Given the description of an element on the screen output the (x, y) to click on. 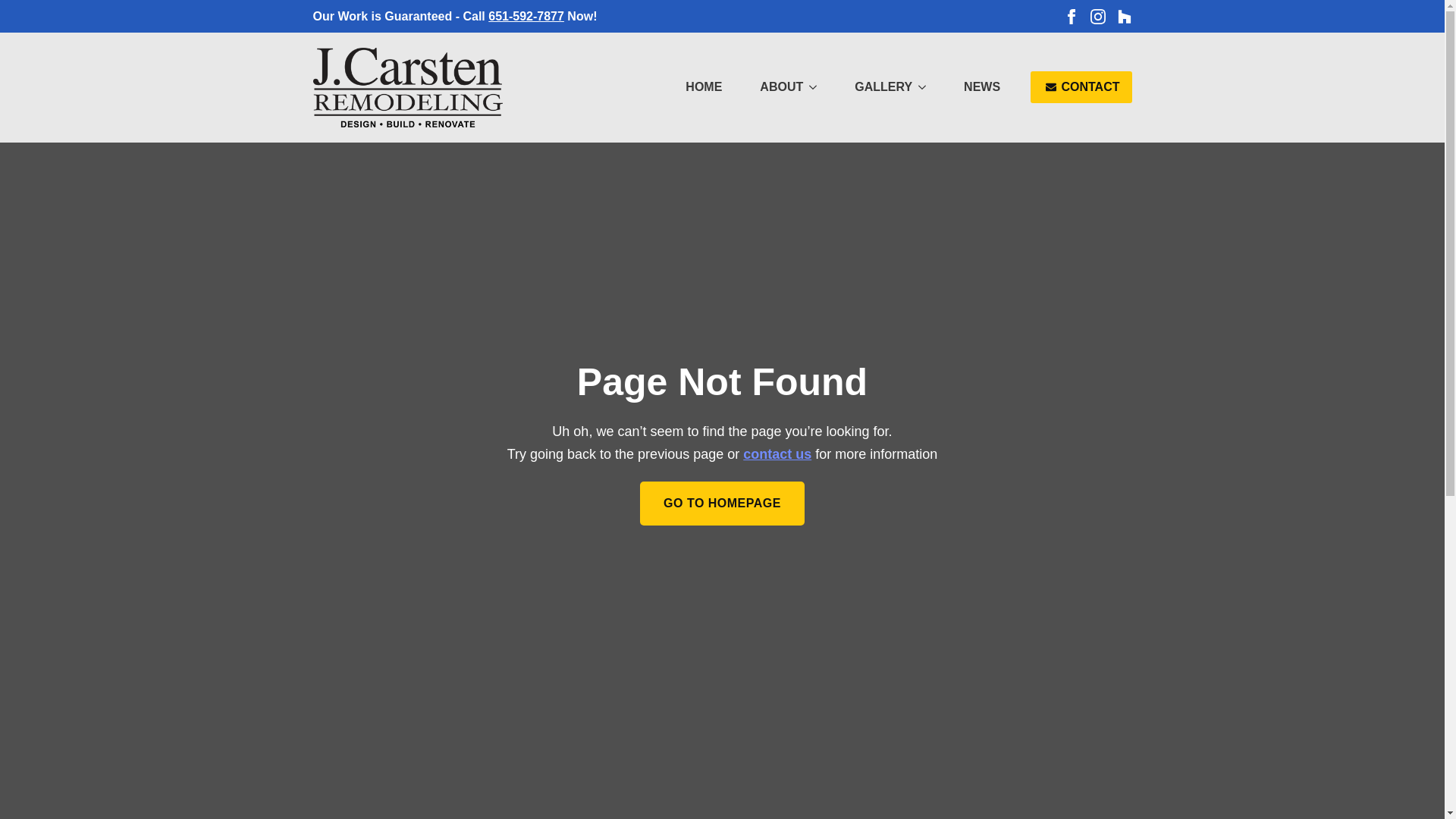
contact us (776, 453)
CONTACT (1080, 87)
NEWS (981, 87)
HOME (702, 87)
Help Center (776, 453)
ABOUT (773, 87)
GALLERY (876, 87)
651-592-7877 (525, 15)
GO TO HOMEPAGE (722, 503)
